Given the description of an element on the screen output the (x, y) to click on. 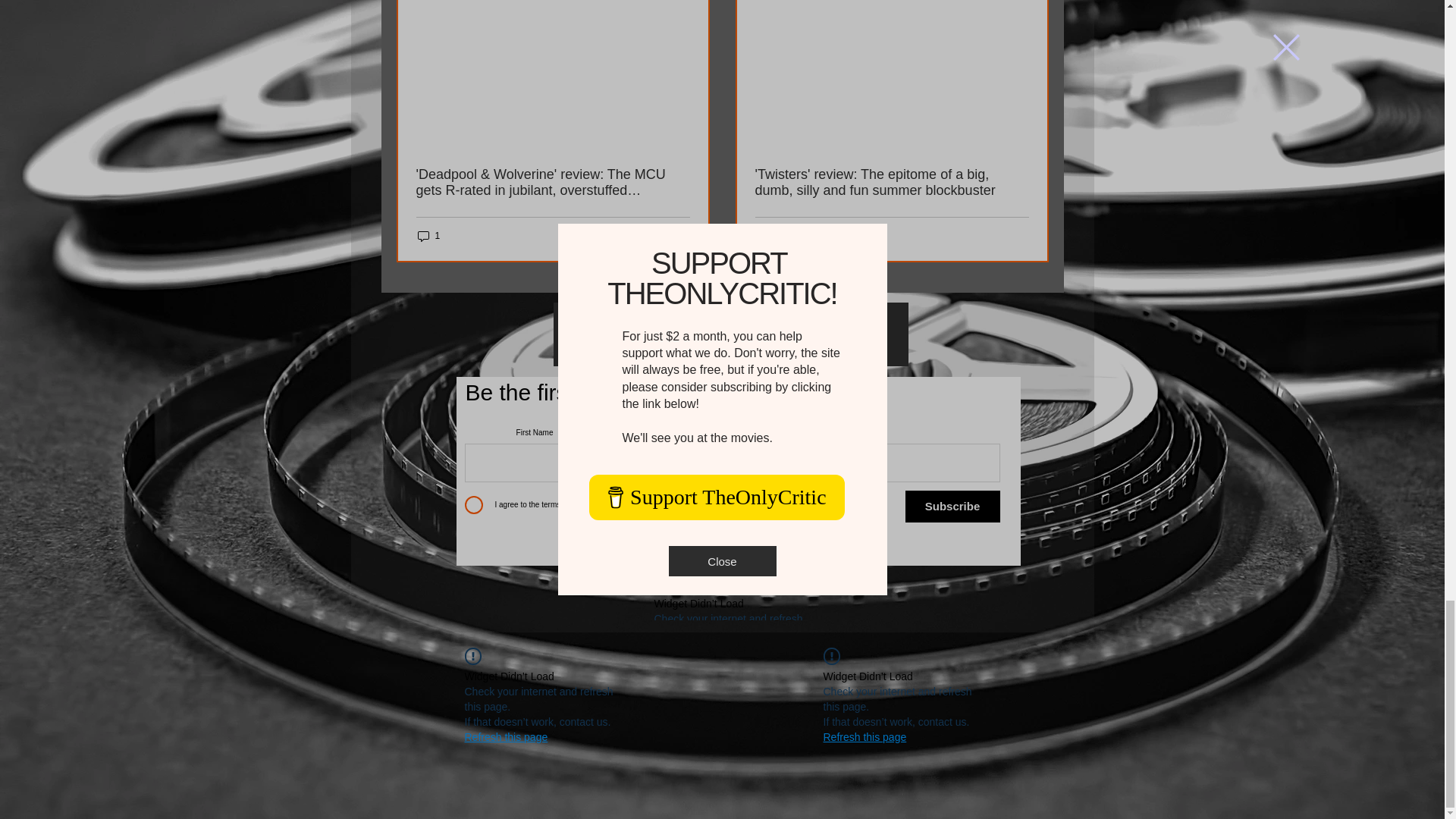
Refresh this page (865, 736)
Subscribe (952, 506)
1 (767, 236)
1 (427, 236)
Refresh this page (505, 736)
